Given the description of an element on the screen output the (x, y) to click on. 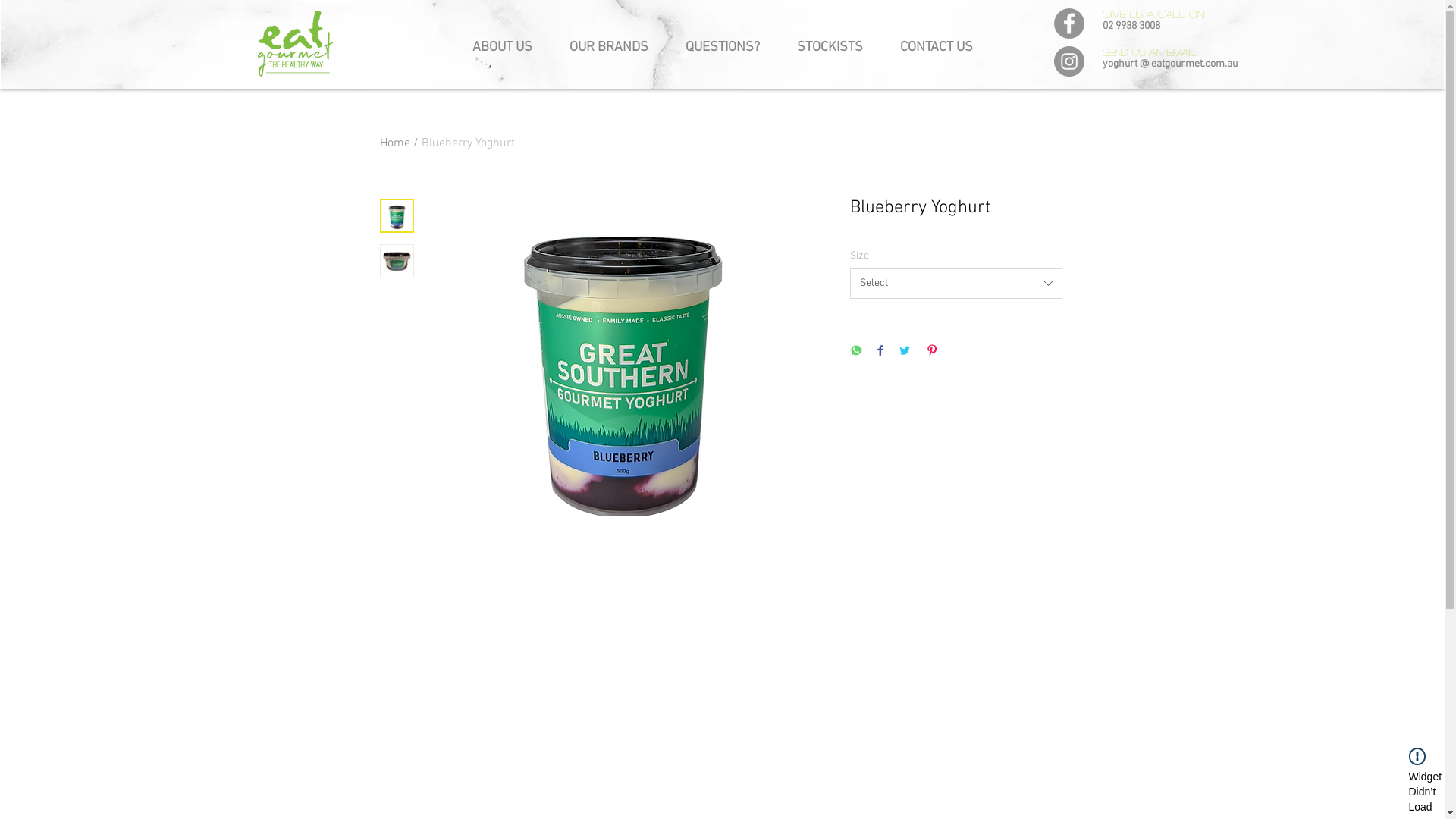
Blueberry Yoghurt Element type: text (467, 142)
OUR BRANDS Element type: text (608, 40)
QUESTIONS? Element type: text (722, 40)
Home Element type: text (394, 142)
Select Element type: text (955, 283)
STOCKISTS Element type: text (829, 40)
CONTACT US Element type: text (935, 40)
ABOUT US Element type: text (501, 40)
